Given the description of an element on the screen output the (x, y) to click on. 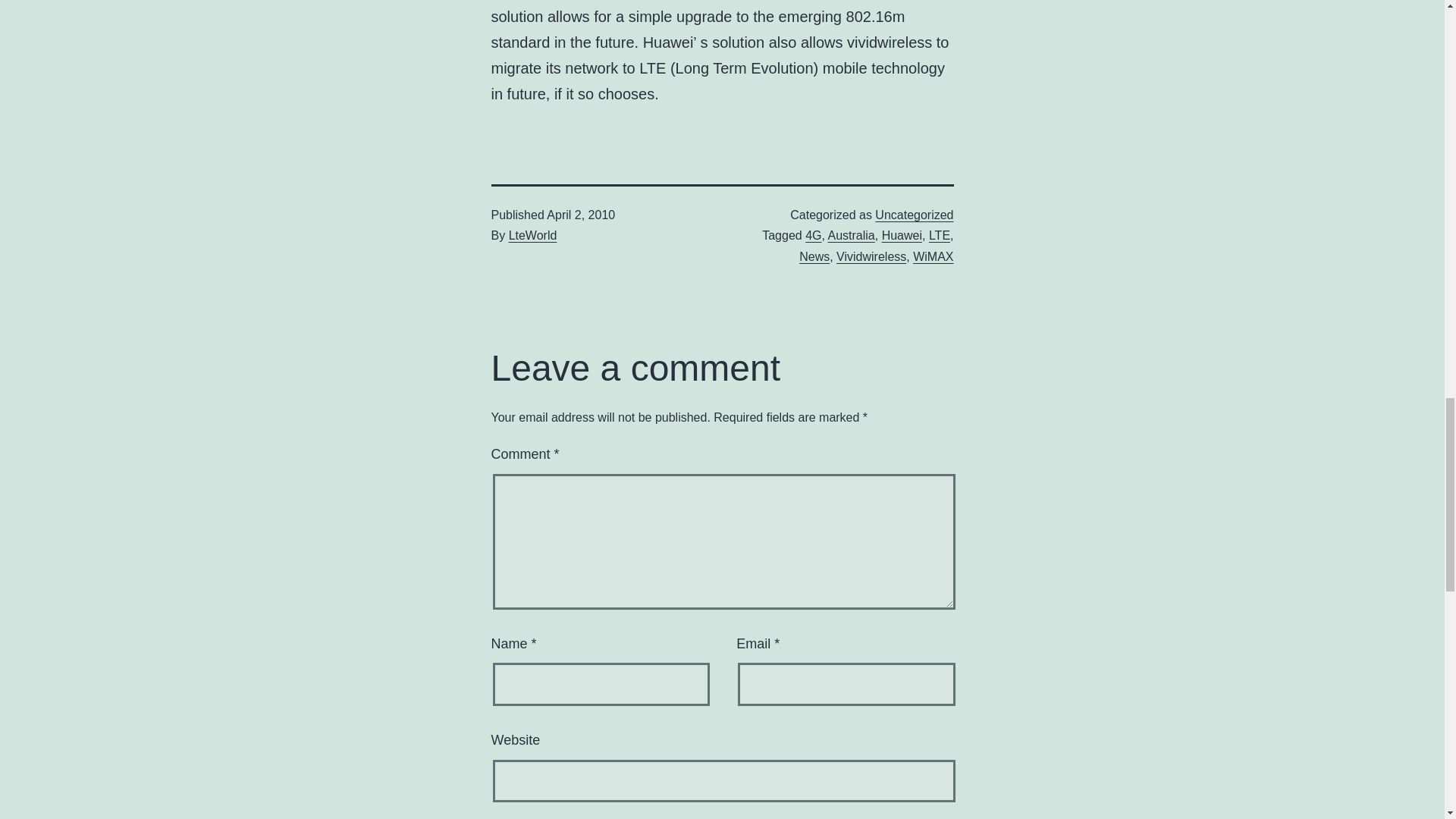
Vividwireless (870, 256)
4G (813, 235)
LteWorld (532, 235)
News (814, 256)
Australia (851, 235)
Huawei (901, 235)
Uncategorized (914, 214)
WiMAX (932, 256)
LTE (939, 235)
